Given the description of an element on the screen output the (x, y) to click on. 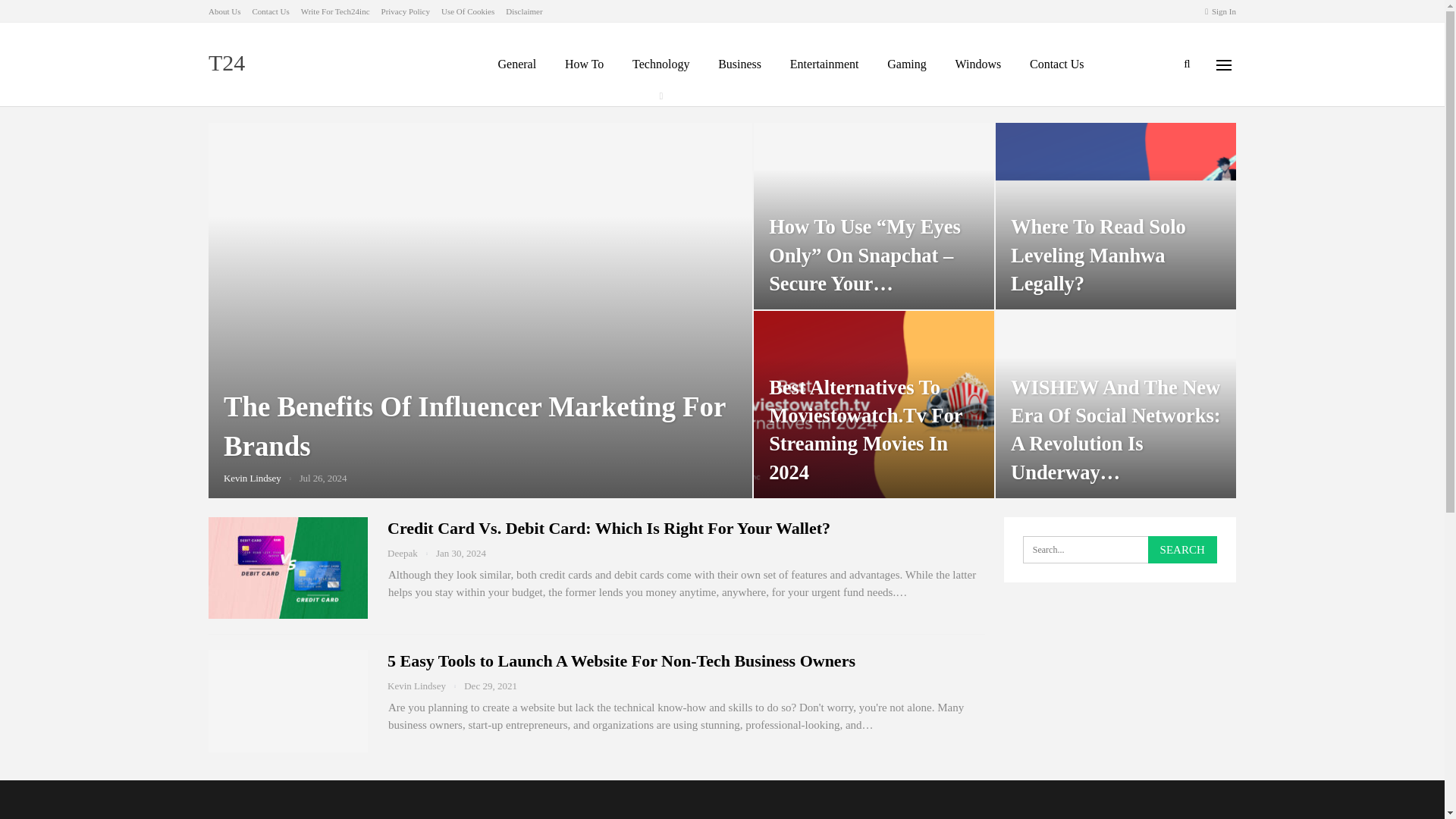
Entertainment (823, 64)
Sign In (1220, 11)
Contact Us (269, 10)
Search (1182, 549)
Kevin Lindsey (261, 478)
About Us (224, 10)
Write For Tech24inc (335, 10)
Where to Read Solo Leveling Manhwa Legally? (1115, 216)
T24 (229, 61)
